Given the description of an element on the screen output the (x, y) to click on. 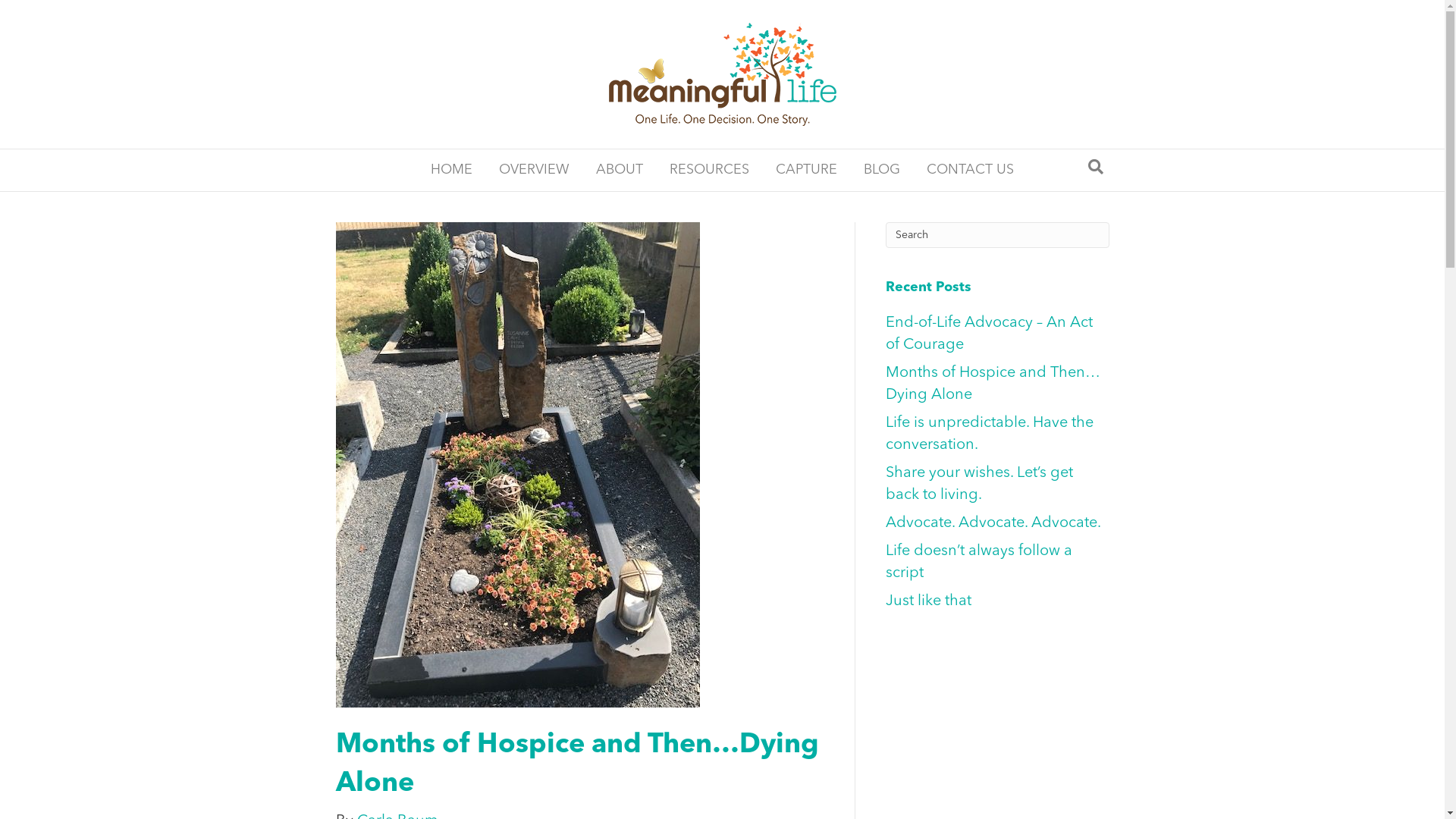
Advocate. Advocate. Advocate. Element type: text (993, 522)
Life is unpredictable. Have the conversation. Element type: text (989, 433)
RESOURCES Element type: text (709, 170)
OVERVIEW Element type: text (533, 170)
Just like that Element type: text (928, 600)
ABOUT Element type: text (619, 170)
BLOG Element type: text (881, 170)
Type and press Enter to search. Element type: hover (997, 234)
CONTACT US Element type: text (970, 170)
HOME Element type: text (451, 170)
CAPTURE Element type: text (806, 170)
